Given the description of an element on the screen output the (x, y) to click on. 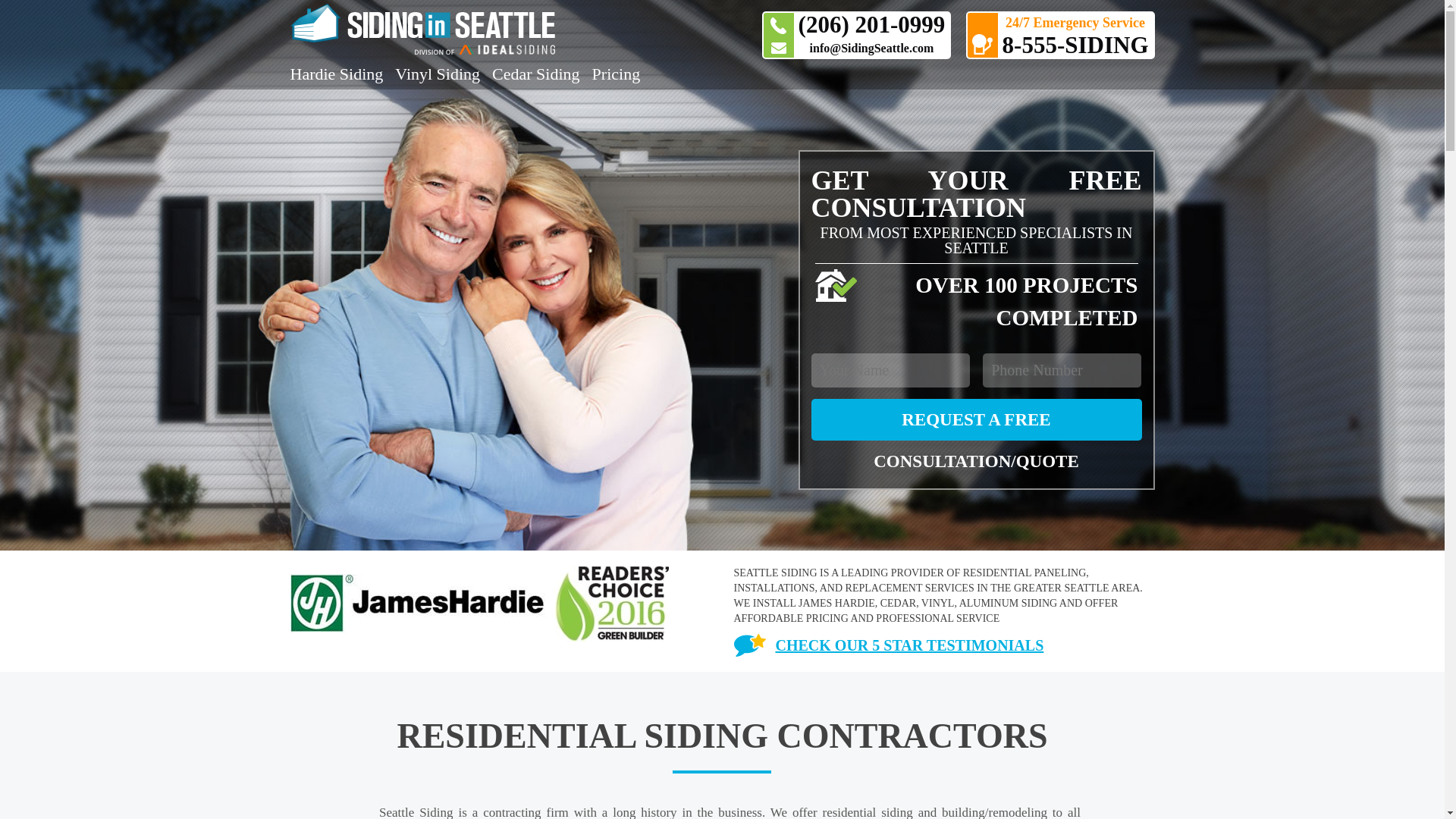
Pricing (616, 73)
Hardie Siding (335, 73)
Siding Seattle (467, 29)
Vinyl Siding (437, 73)
Cedar Siding (535, 73)
8-555-SIDING (1075, 44)
CHECK OUR 5 STAR TESTIMONIALS (888, 644)
